Given the description of an element on the screen output the (x, y) to click on. 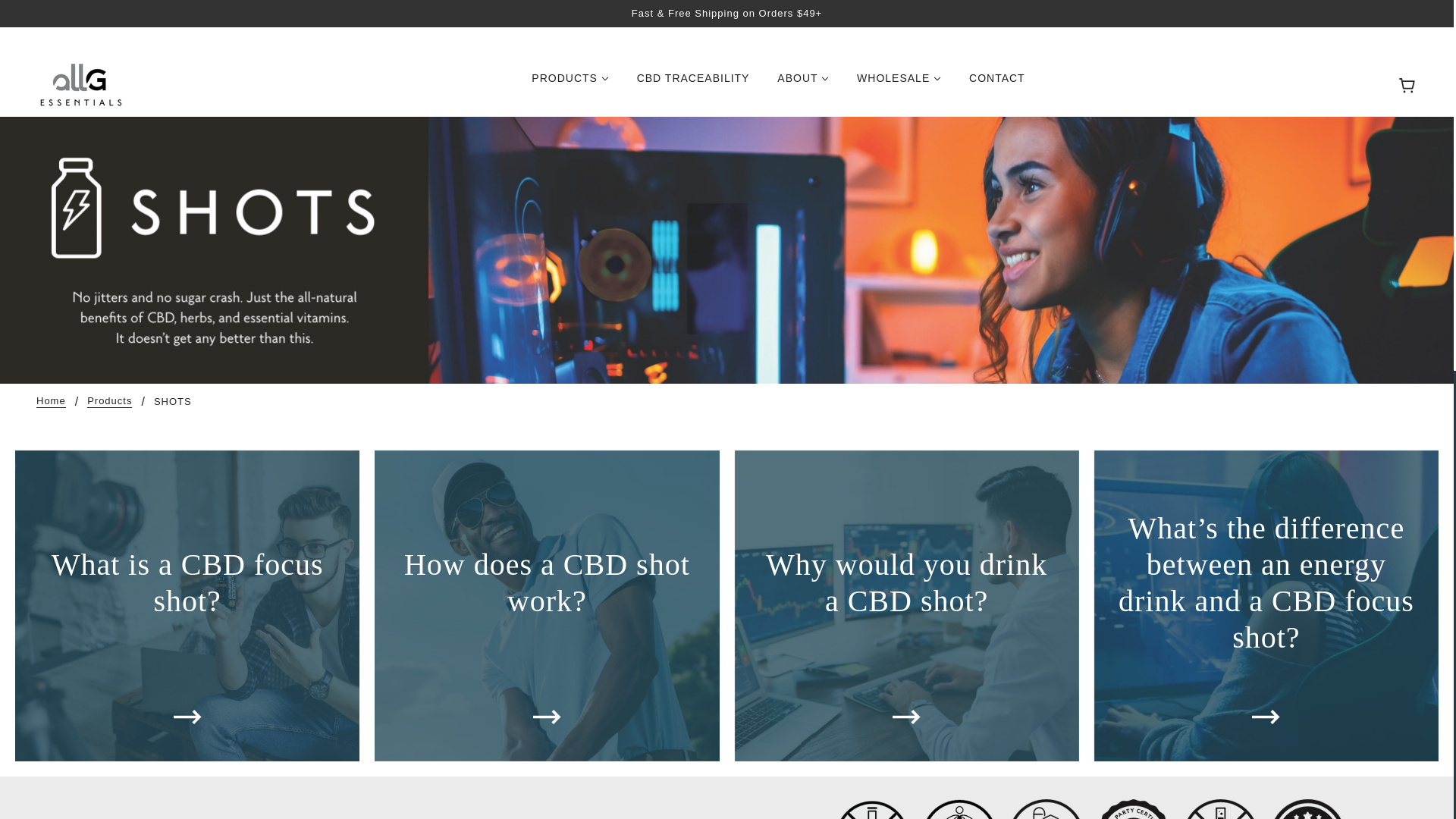
CBD TRACEABILITY (692, 83)
Home (50, 401)
CONTACT (996, 83)
ABOUT (803, 83)
WHOLESALE (898, 83)
PRODUCTS (569, 83)
All G Essentials (82, 82)
Products (109, 401)
